Given the description of an element on the screen output the (x, y) to click on. 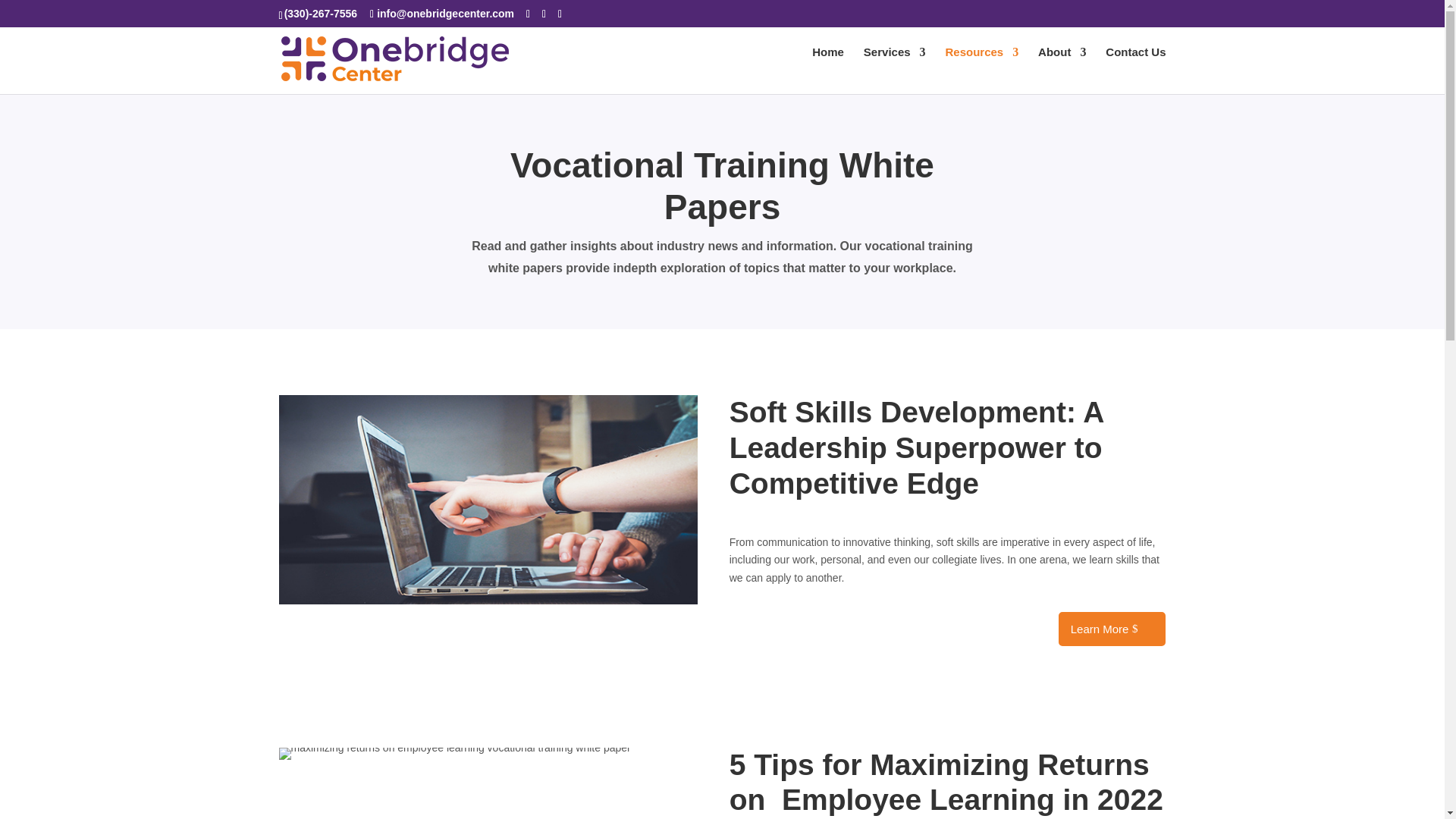
Contact Us (1135, 66)
Learn More (1112, 628)
Resources (980, 66)
Services (894, 66)
campaign-creators-gMsnXqILjp4-unsplash-resized (454, 753)
About (1062, 66)
